Given the description of an element on the screen output the (x, y) to click on. 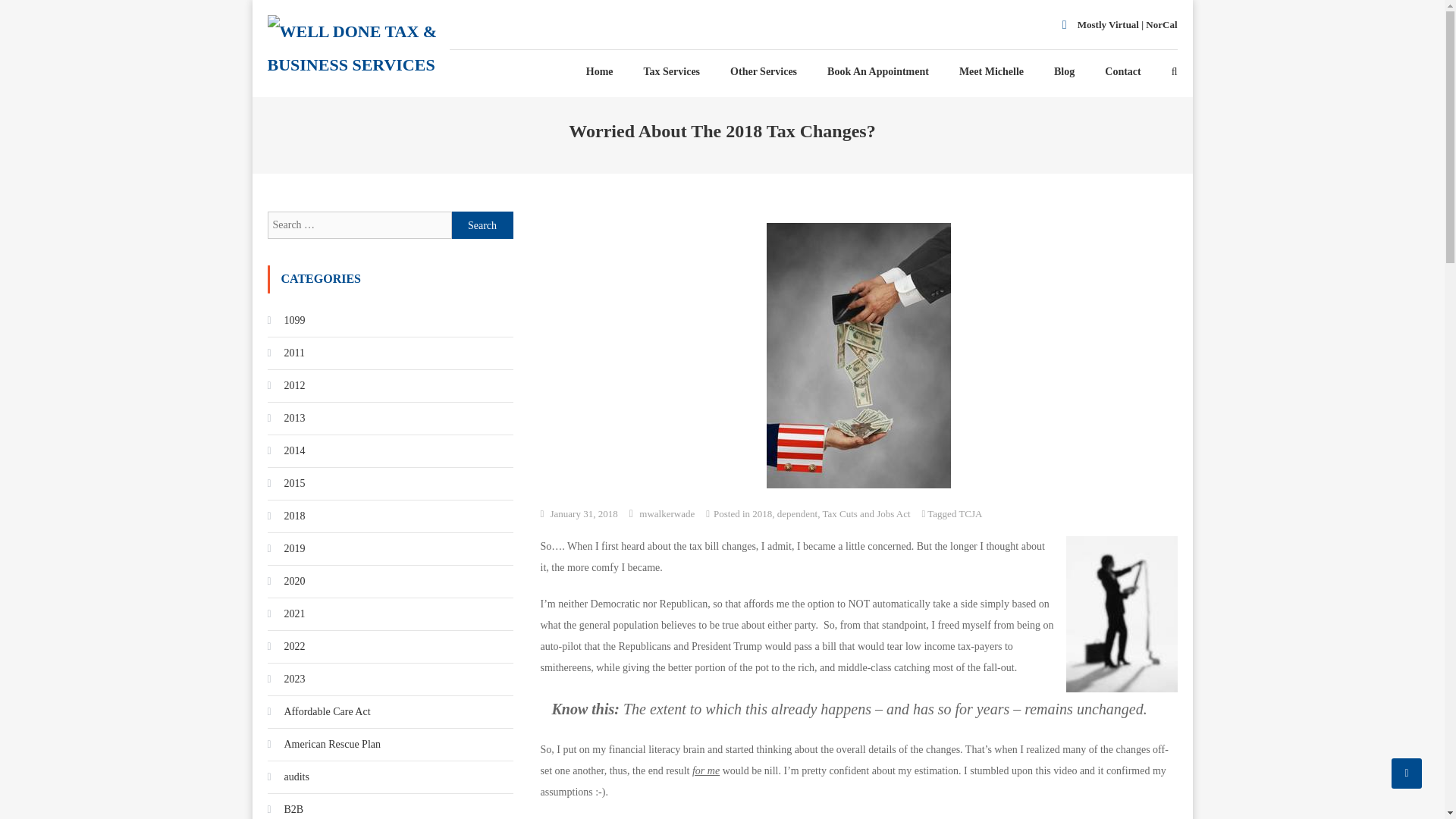
Search (482, 225)
Search (482, 225)
2022 (285, 646)
2019 (285, 549)
Meet Michelle (991, 71)
Other Services (763, 71)
Home (599, 71)
Affordable Care Act (317, 711)
B2B (284, 808)
2015 (285, 483)
